Given the description of an element on the screen output the (x, y) to click on. 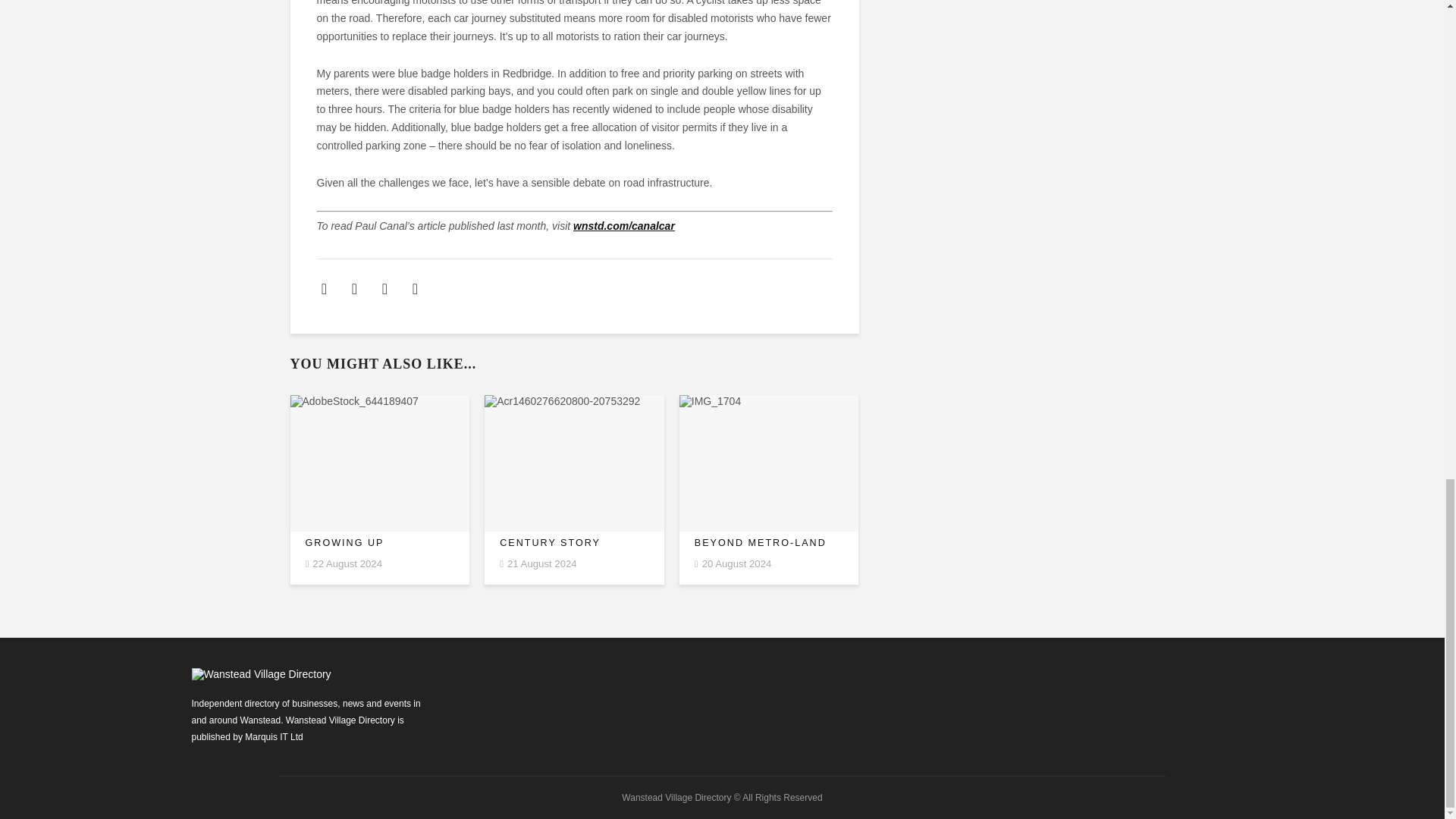
Century Story (574, 543)
Growing up (379, 543)
Beyond Metro-land (769, 543)
